Given the description of an element on the screen output the (x, y) to click on. 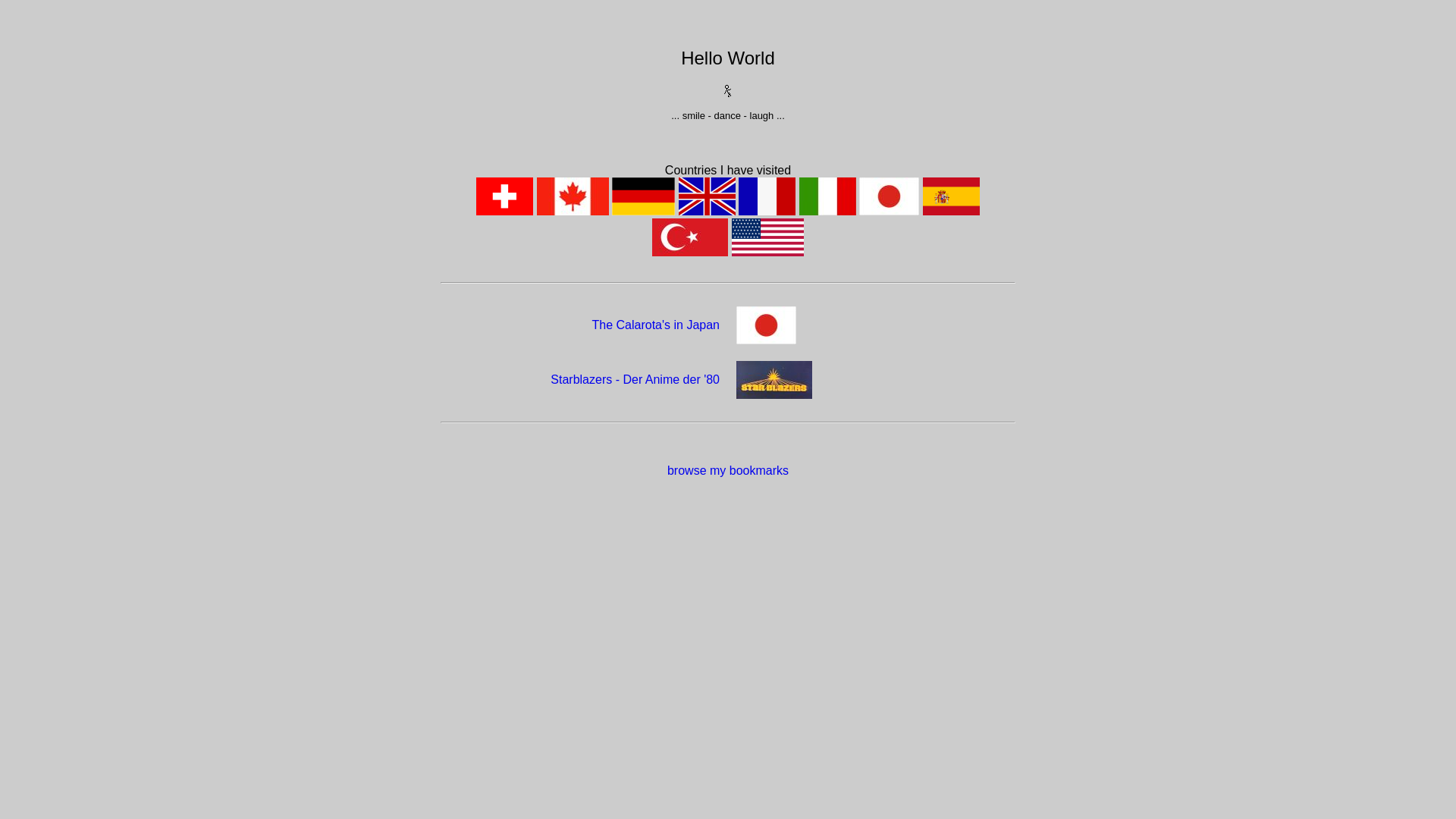
browse my bookmarks Element type: text (727, 470)
The Calarota's in Japan Element type: text (655, 324)
Starblazers - Der Anime der '80 Element type: text (634, 379)
